Given the description of an element on the screen output the (x, y) to click on. 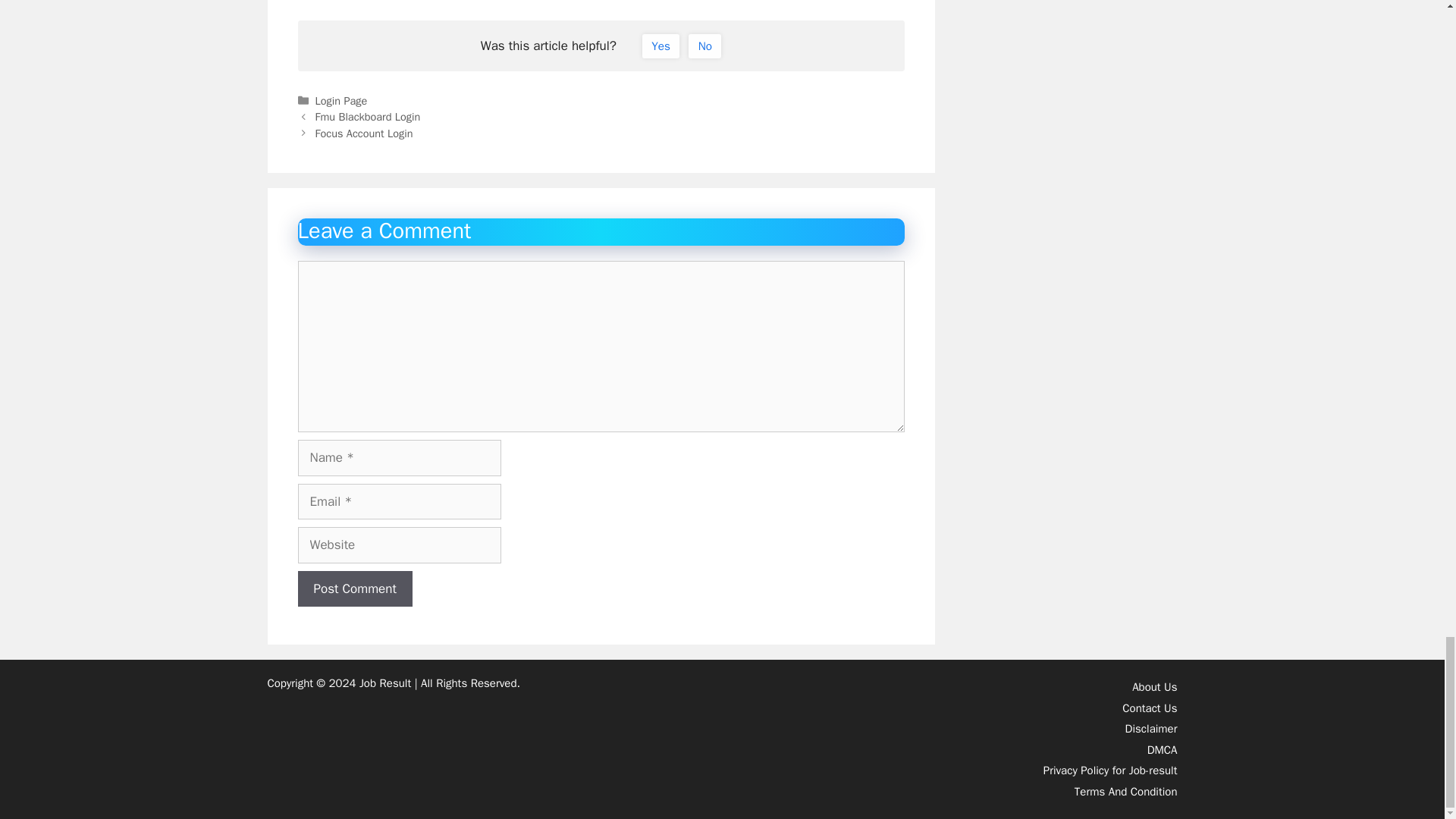
Focus Account Login (364, 133)
Fmu Blackboard Login (367, 116)
Post Comment (354, 588)
Login Page (341, 100)
Post Comment (354, 588)
